Given the description of an element on the screen output the (x, y) to click on. 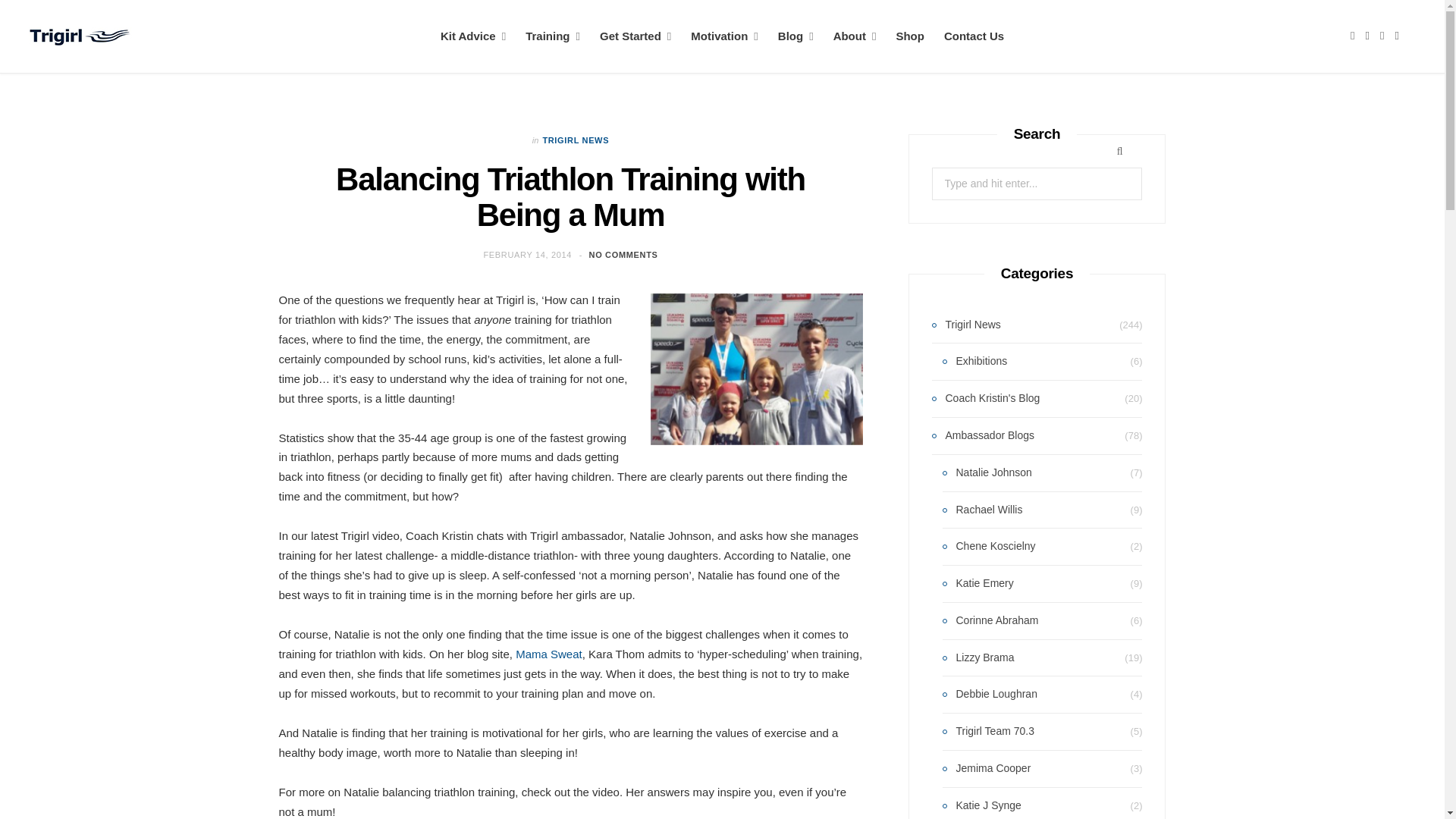
Triathlon Tips for Beginners (635, 36)
Triathlon Training (552, 36)
Triathlon Motivation (724, 36)
Training (552, 36)
Kit Advice (472, 36)
Triathlon Kit Advice (472, 36)
Get Started (635, 36)
